Given the description of an element on the screen output the (x, y) to click on. 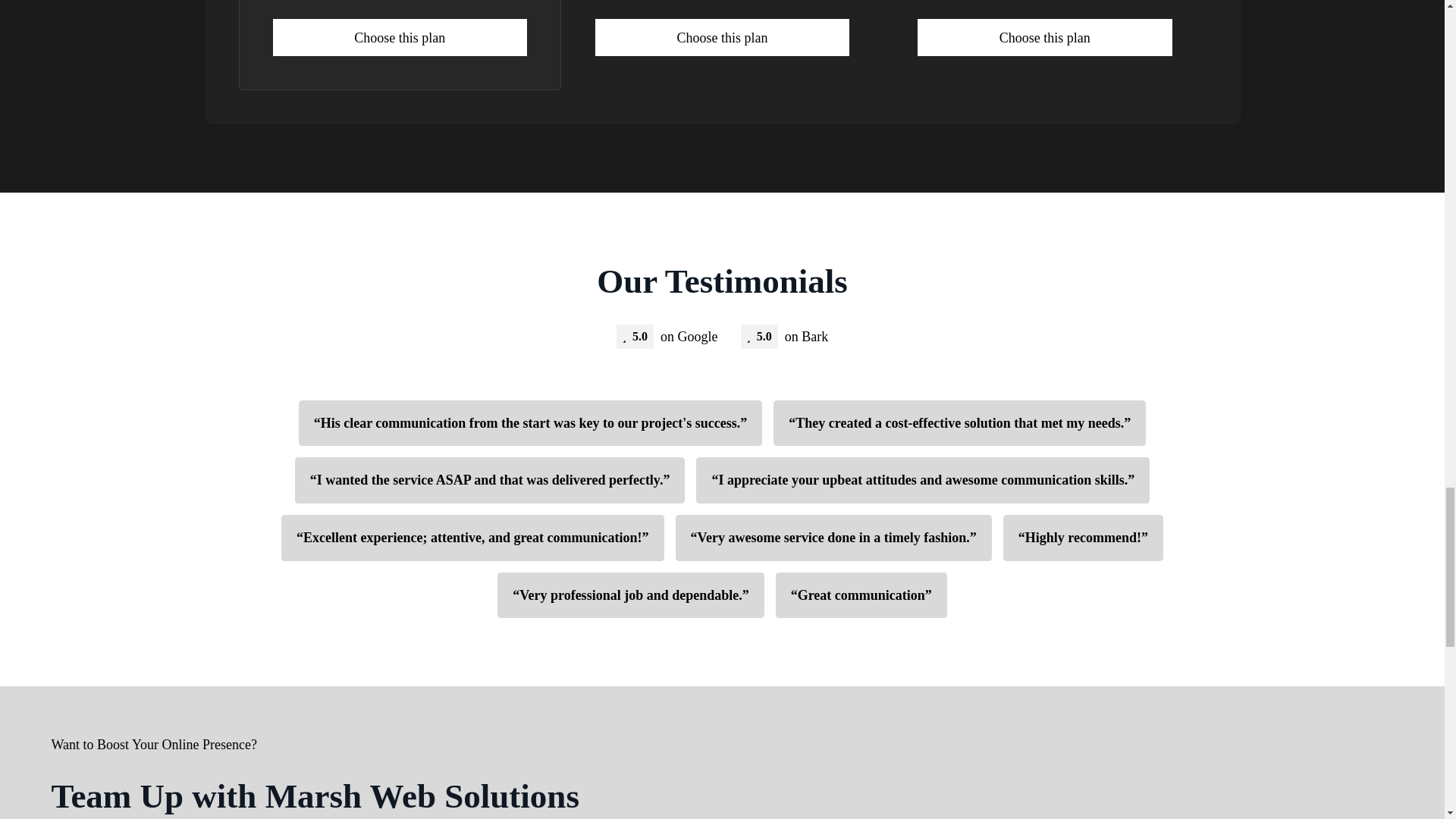
Choose this plan (1044, 37)
Choose this plan (400, 37)
Choose this plan (721, 37)
